Given the description of an element on the screen output the (x, y) to click on. 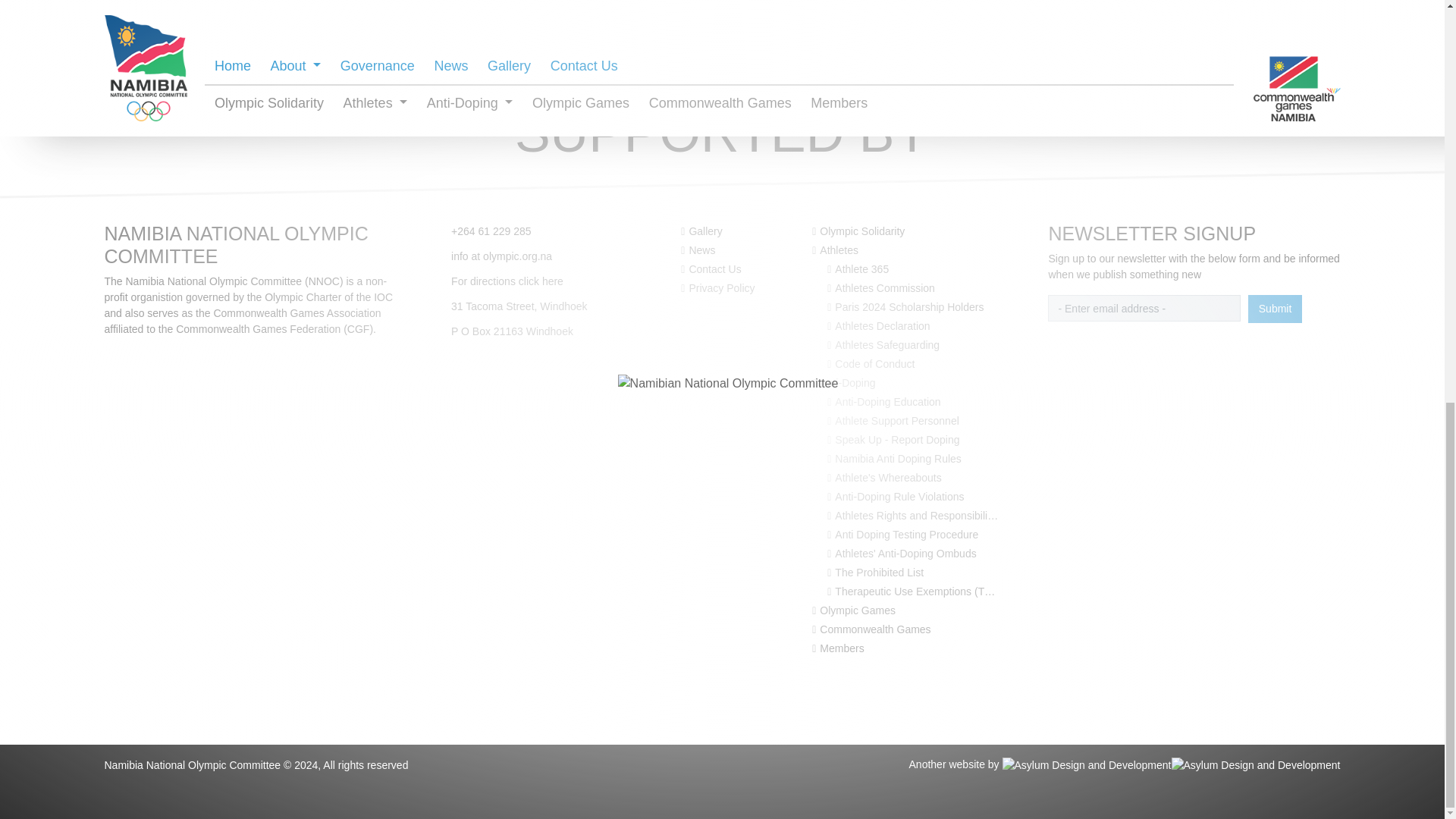
Telephone (491, 231)
Jonas Jonas (921, 2)
Get in Touch (711, 268)
Olympic Solidarity (858, 231)
Email Address (501, 256)
directions (507, 281)
News (697, 250)
Privacy Policy (717, 287)
Gallery (701, 231)
Athletes (835, 250)
